Given the description of an element on the screen output the (x, y) to click on. 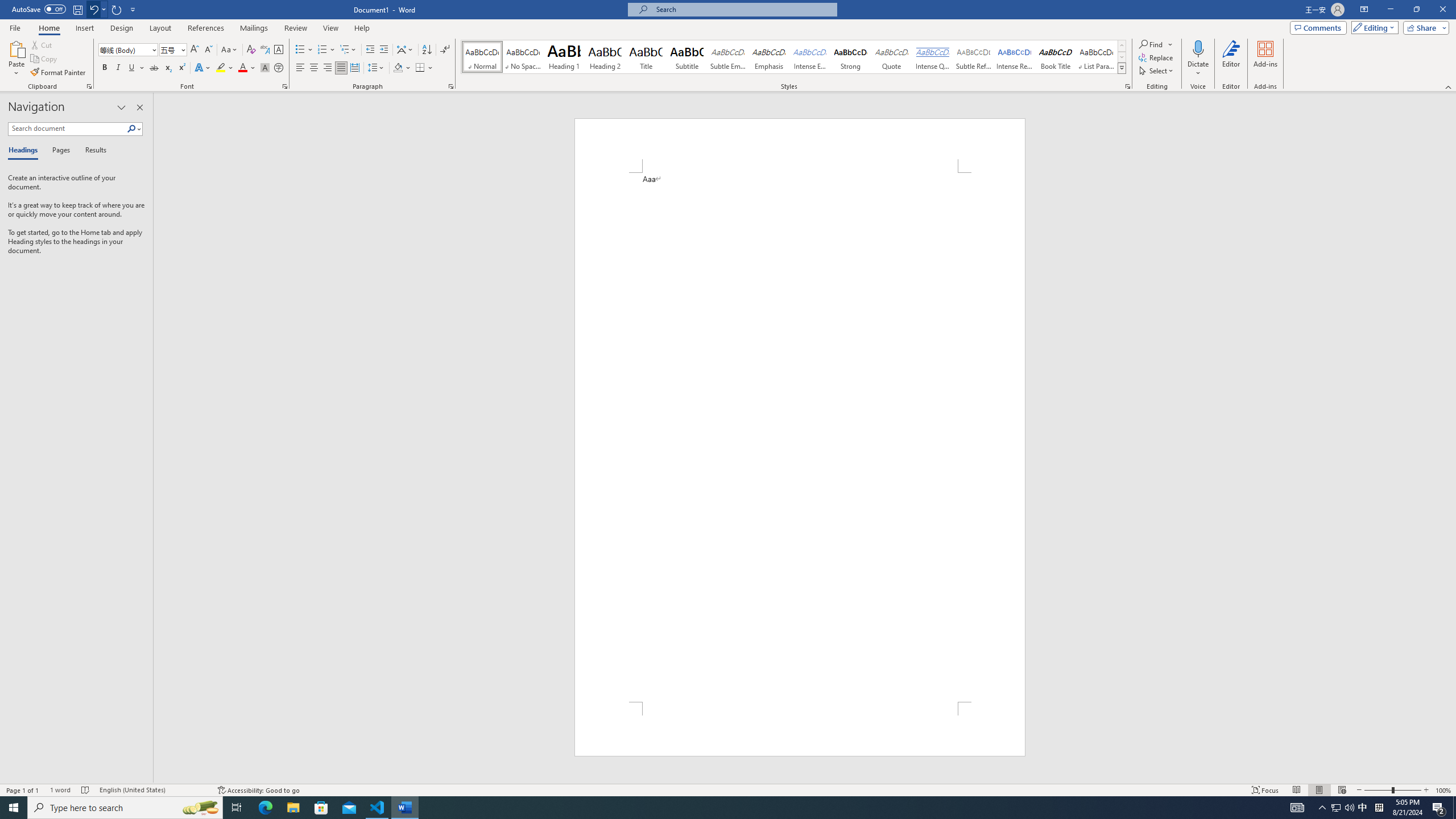
Subtle Emphasis (727, 56)
Undo AutoCorrect (96, 9)
